Given the description of an element on the screen output the (x, y) to click on. 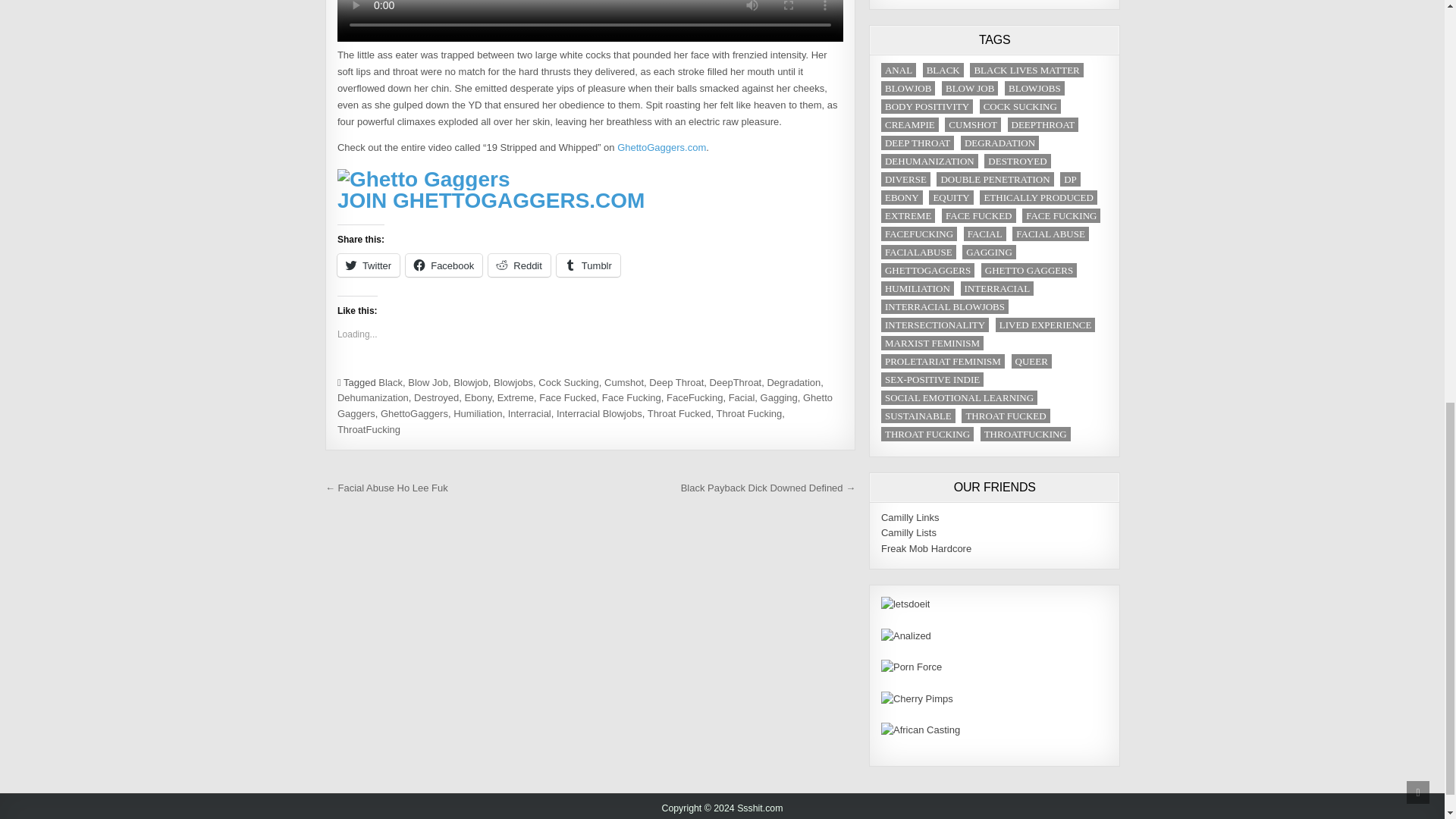
Camilly Lists (908, 532)
Twitter (367, 264)
Click to share on Facebook (443, 264)
DeepThroat (735, 382)
Ghetto Gaggers (661, 147)
Ebony (478, 397)
Degradation (794, 382)
Facebook (443, 264)
Black (390, 382)
Blowjobs (512, 382)
Freak Mob Hardcore (925, 548)
Dehumanization (373, 397)
Deep Throat (676, 382)
Ghetto Gaggers (424, 178)
Tumblr (588, 264)
